Given the description of an element on the screen output the (x, y) to click on. 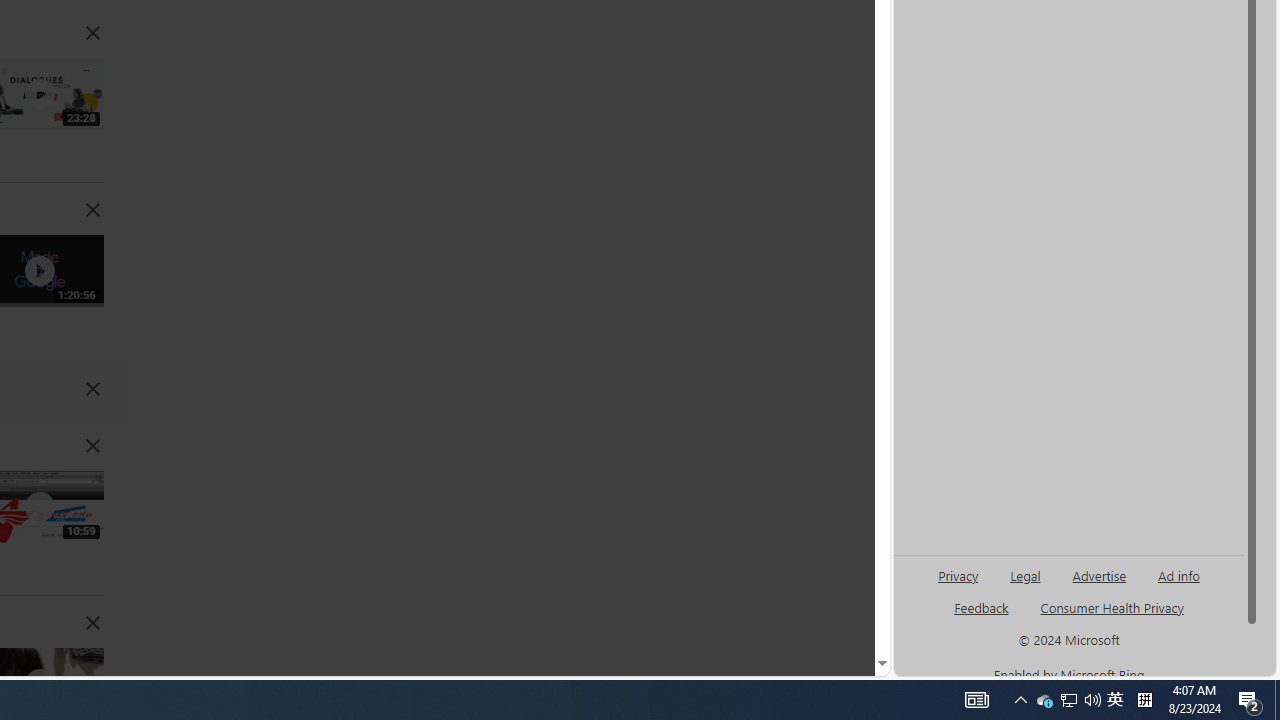
AutomationID: genId96 (981, 615)
AutomationID: sb_feedback (980, 607)
